Given the description of an element on the screen output the (x, y) to click on. 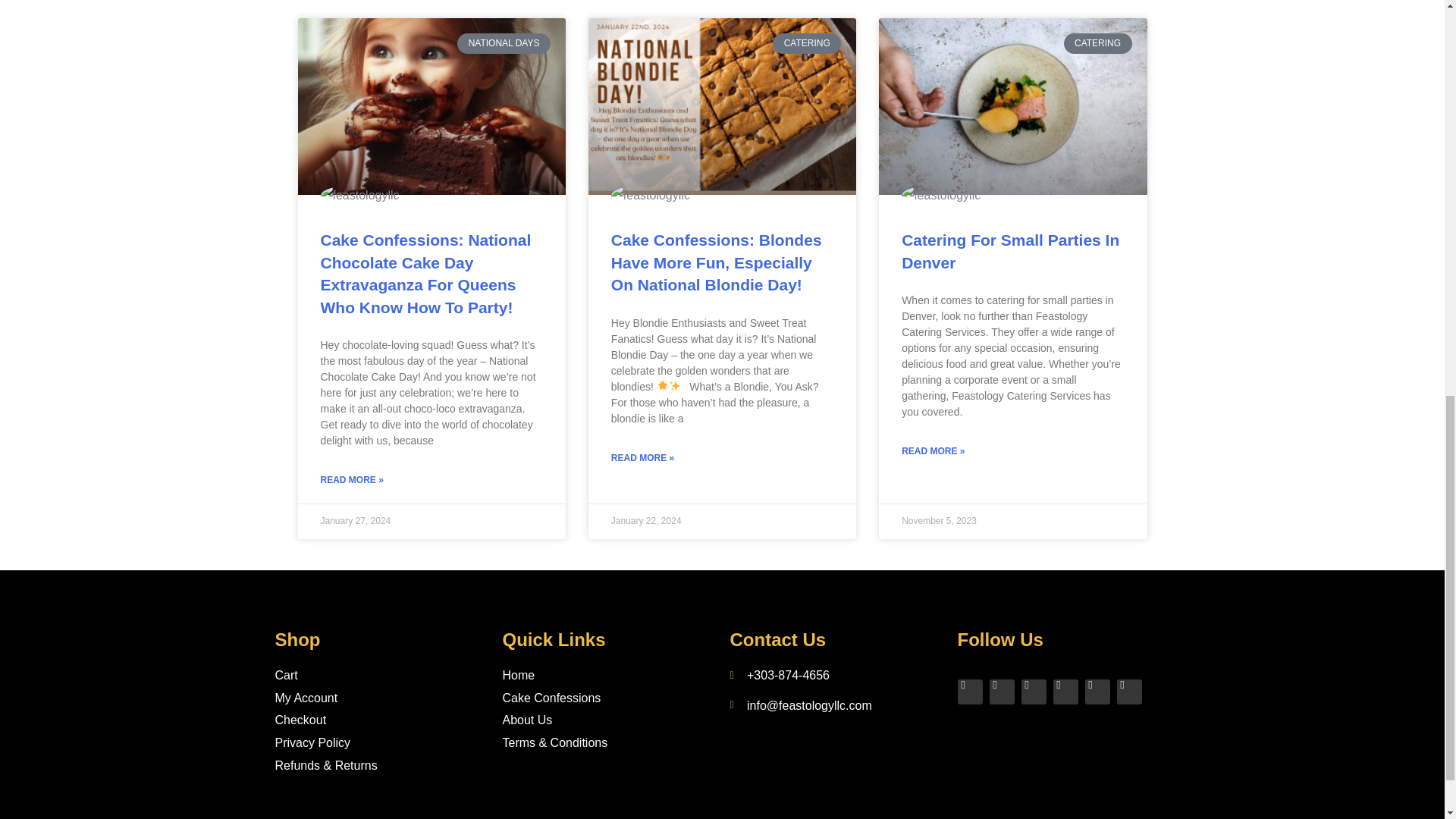
Catering For Small Parties In Denver (1010, 250)
Home (608, 675)
Privacy Policy (380, 743)
Cart (380, 675)
Checkout (380, 720)
Shop (297, 639)
My Account (380, 698)
Cake Confessions (608, 698)
